Given the description of an element on the screen output the (x, y) to click on. 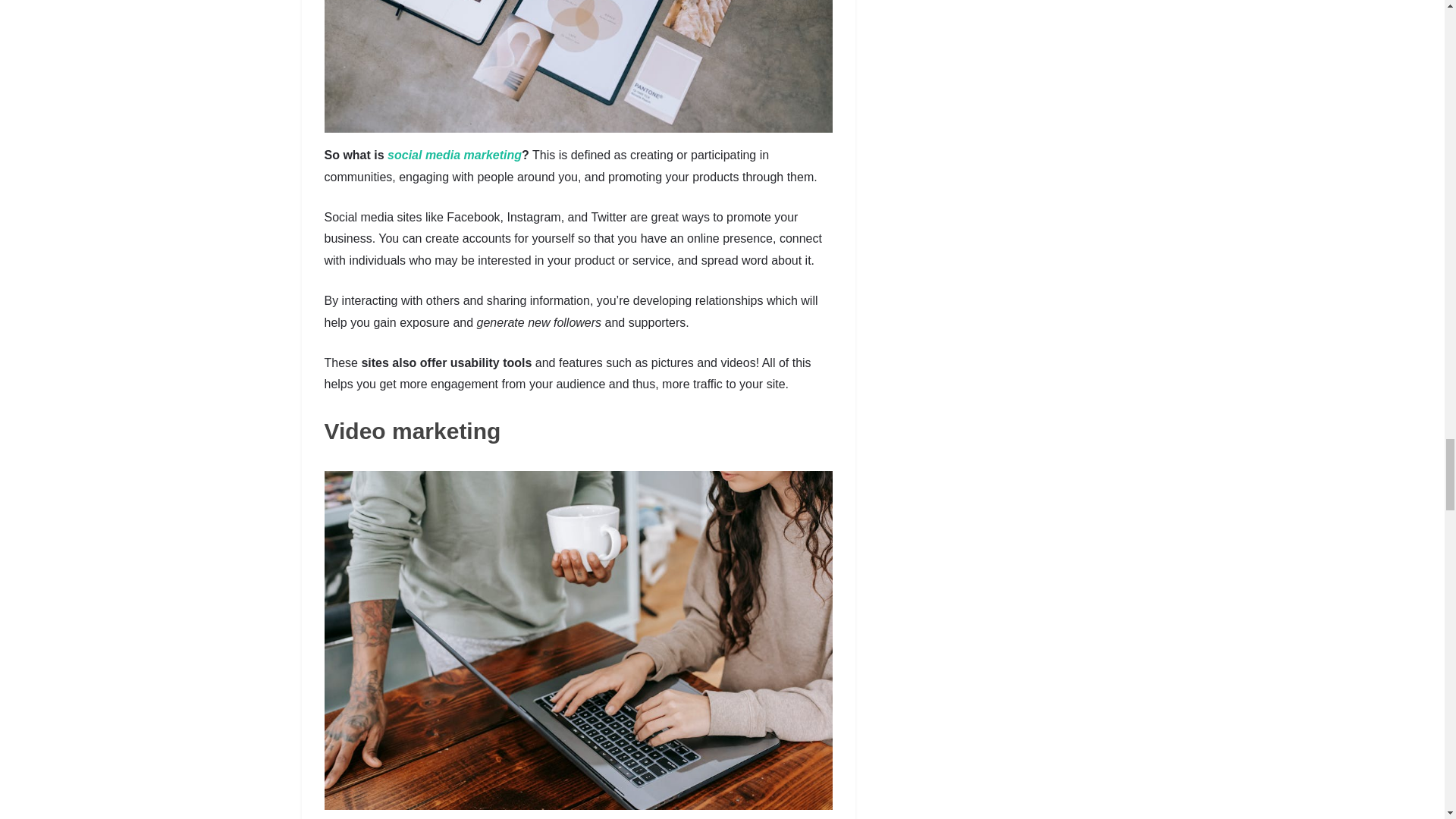
social media marketing (454, 154)
